Given the description of an element on the screen output the (x, y) to click on. 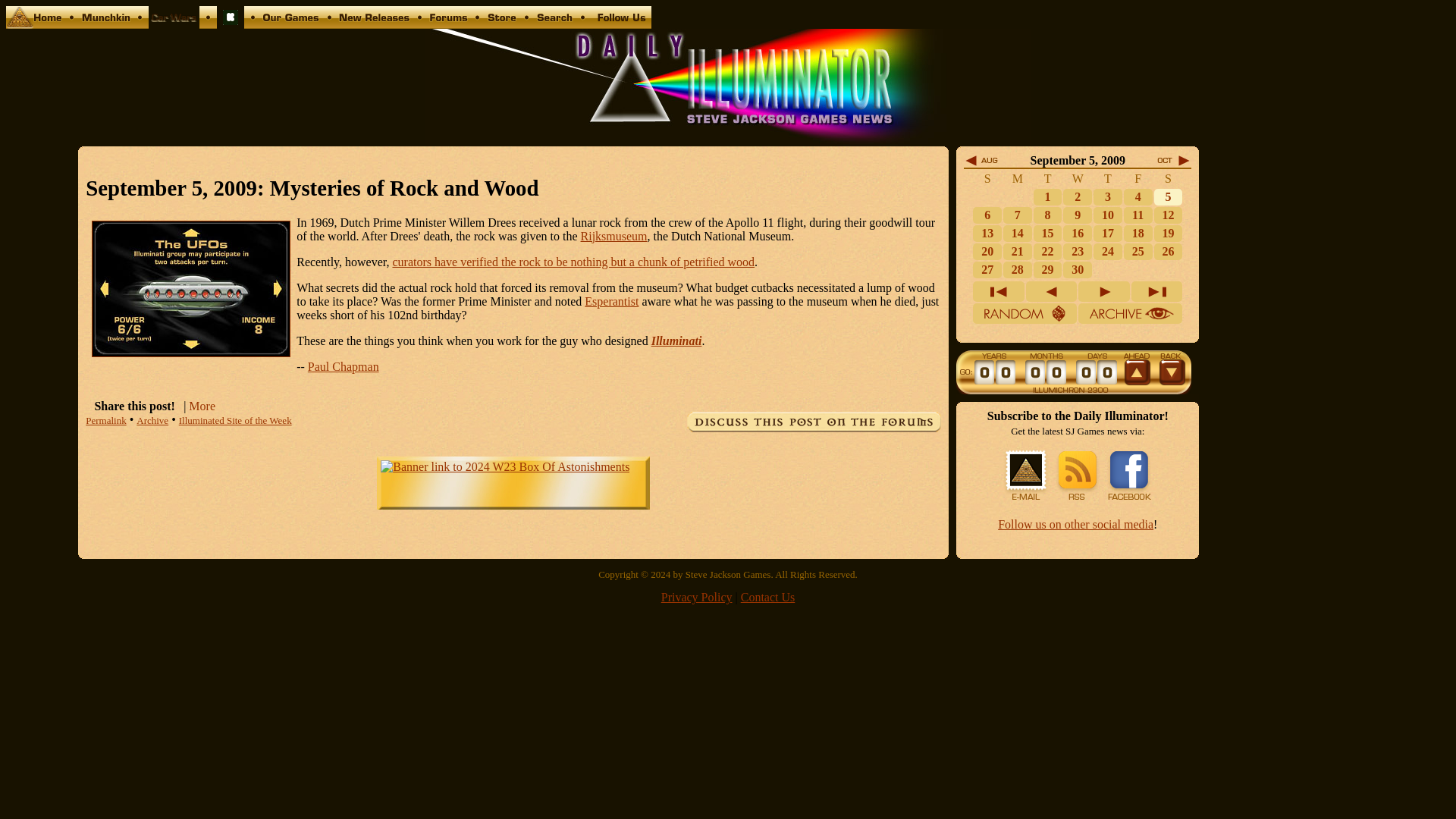
You're Not from Around Here, Are You? (1138, 196)
October 2009 (1173, 163)
7 (1017, 214)
2024 W23 Box Of Astonishments (504, 466)
New Releases (373, 24)
3 (1107, 196)
Meet Your Distributor! (986, 214)
SJGames.com (33, 24)
August 2009 (980, 163)
8 (1048, 214)
Hexagram 13 - An Old School Zine for The Fantasy Trip RPG (230, 24)
5 (1167, 196)
9 (1077, 214)
